Given the description of an element on the screen output the (x, y) to click on. 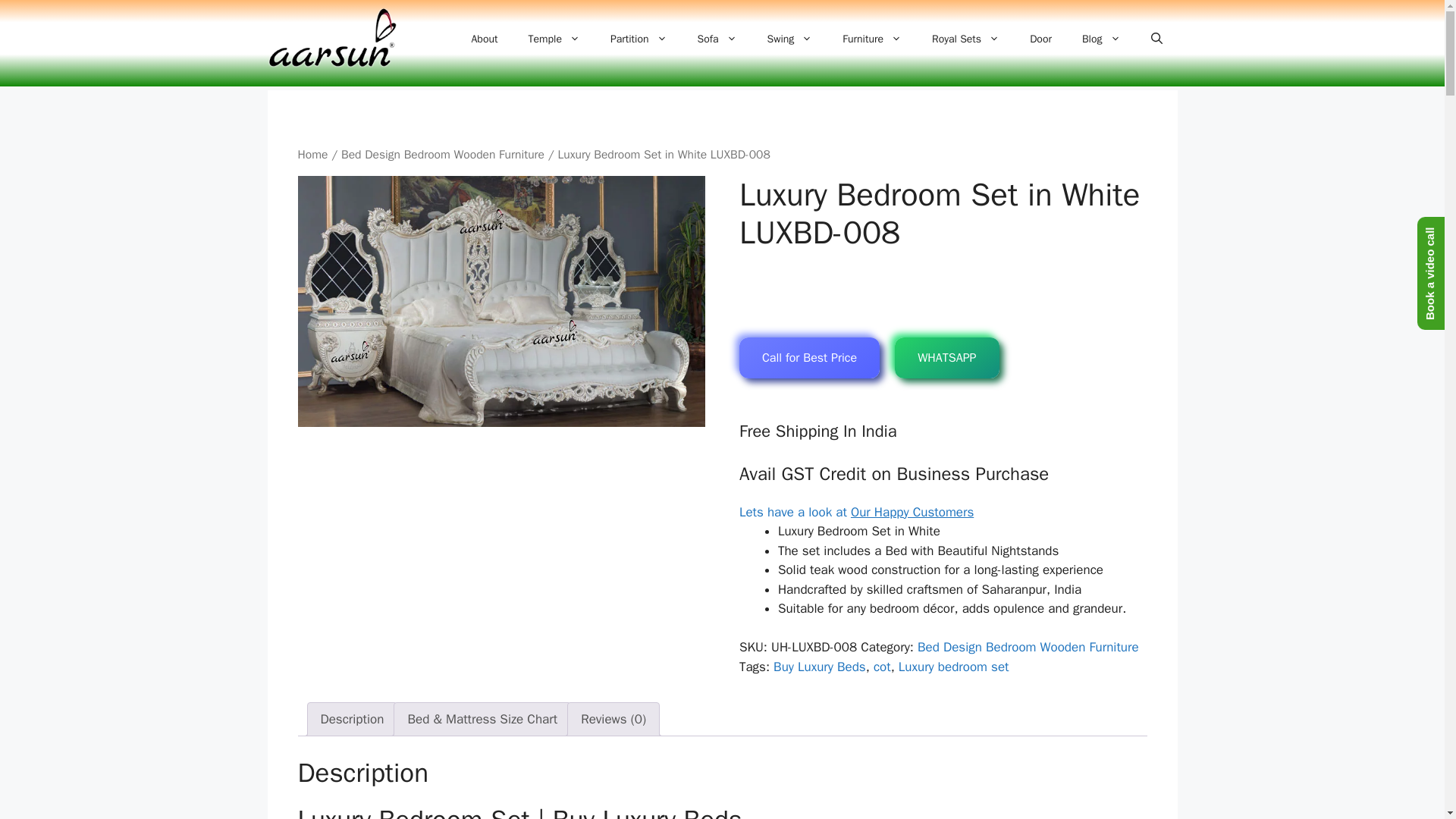
Swing (790, 38)
About (485, 38)
Partition (638, 38)
Temple (553, 38)
Sofa (717, 38)
Furniture (872, 38)
Luxury Bedroom Set in White (500, 301)
